Given the description of an element on the screen output the (x, y) to click on. 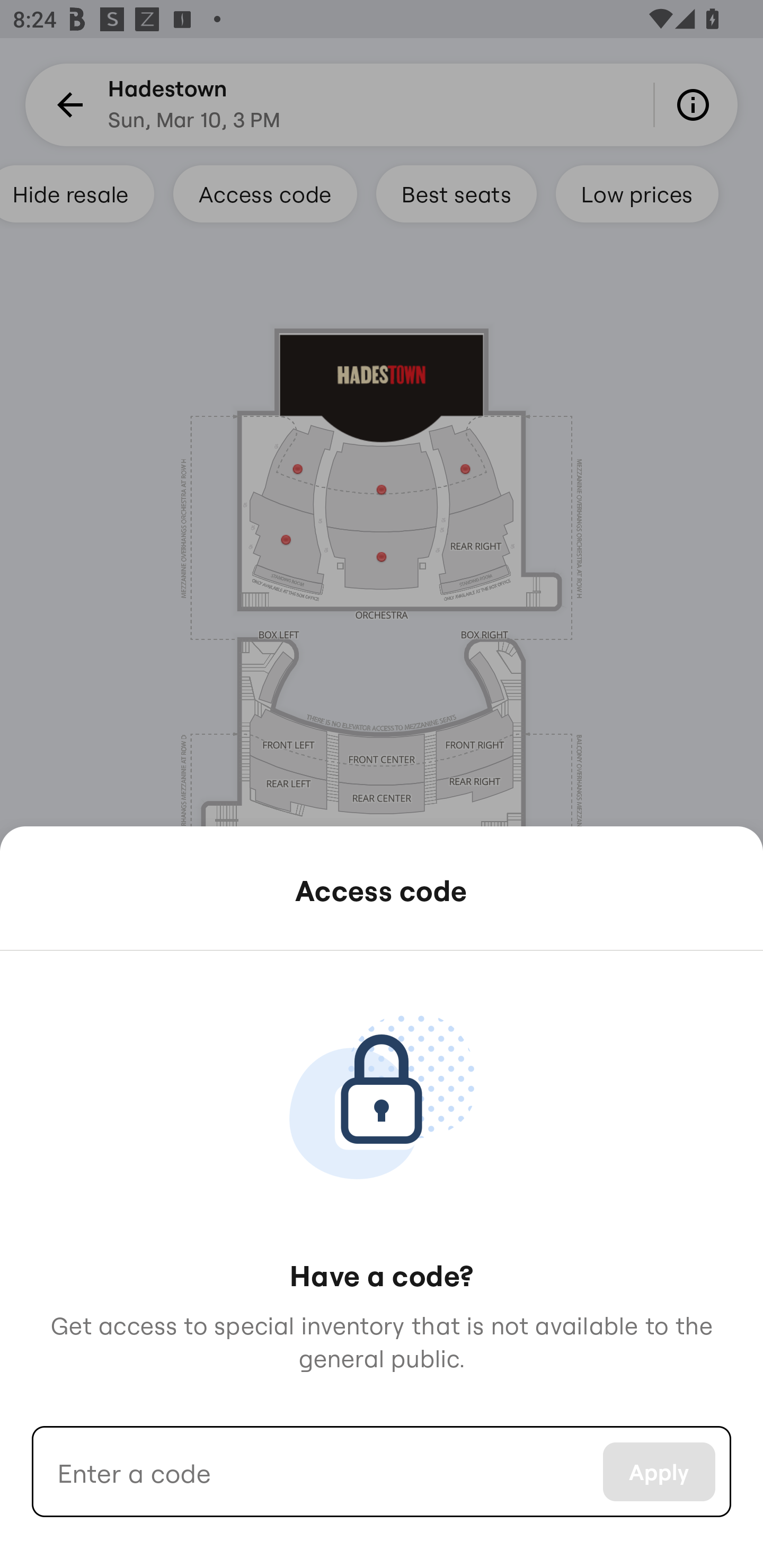
Enter a code (317, 1471)
Apply (658, 1471)
